Given the description of an element on the screen output the (x, y) to click on. 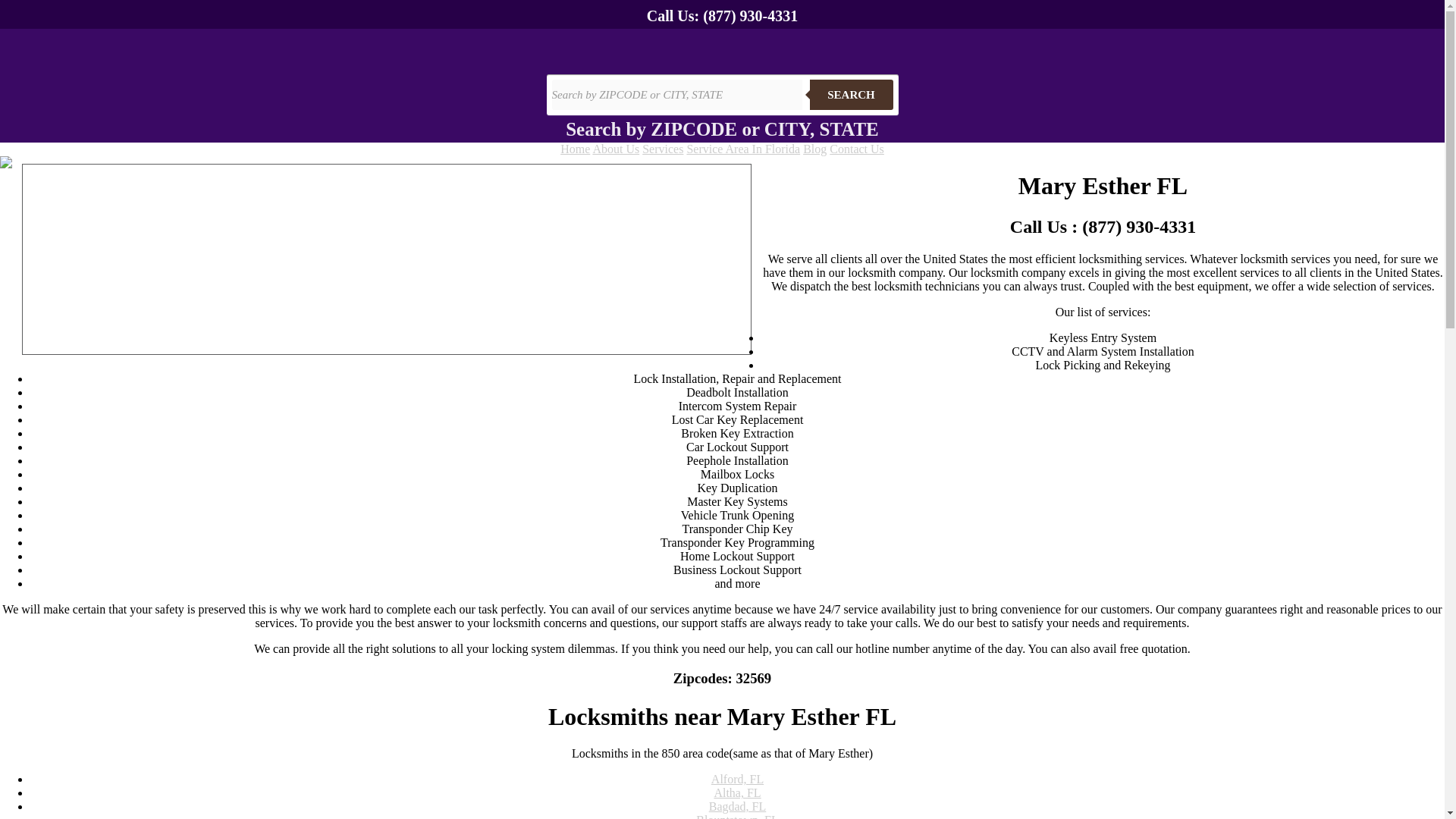
Blog (815, 148)
Altha, FL (736, 792)
Permanent Link to Bagdad FL (738, 806)
Permanent Link to Alford FL (736, 779)
Permanent Link to Blountstown FL (736, 816)
Alford, FL (736, 779)
Bagdad, FL (738, 806)
Contact Us (856, 148)
Services (662, 148)
Service Area In Florida (742, 148)
